Given the description of an element on the screen output the (x, y) to click on. 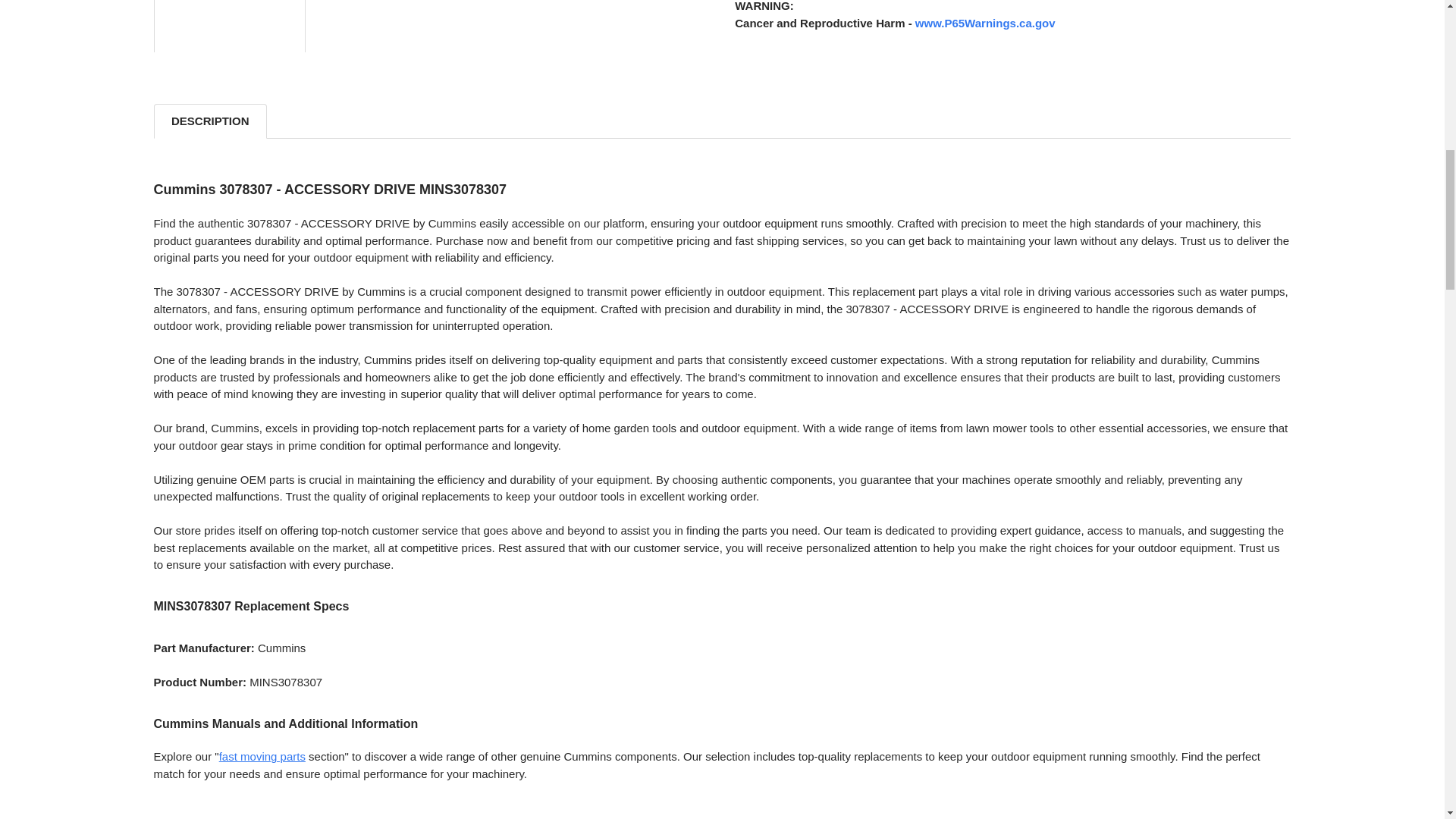
CUMMINS 3078307 - DRIVE ACCESSORY - Original OEM part (229, 138)
CUMMINS 3078307 - DRIVE ACCESSORY - Original OEM part (229, 26)
CUMMINS 3078307 - DRIVE ACCESSORY - Original OEM part (229, 299)
